Given the description of an element on the screen output the (x, y) to click on. 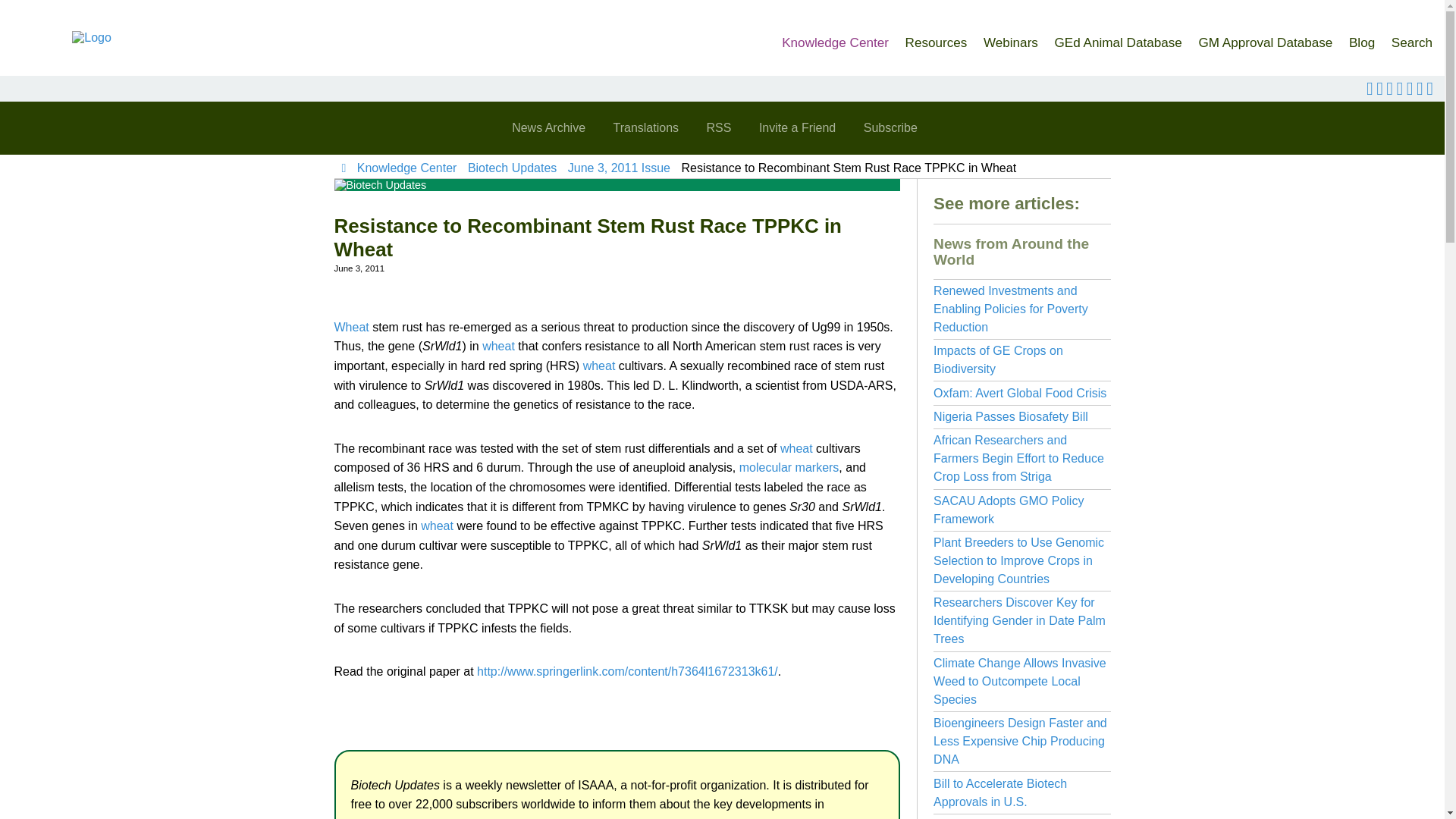
wheat (599, 365)
GEd Animal Database (1117, 37)
Biotech Updates (511, 167)
Blog (1361, 37)
Oxfam: Avert Global Food Crisis (1019, 392)
molecular markers (789, 467)
Invite a Friend (796, 127)
Impacts of GE Crops on Biodiversity (997, 359)
Wheat (350, 327)
